Given the description of an element on the screen output the (x, y) to click on. 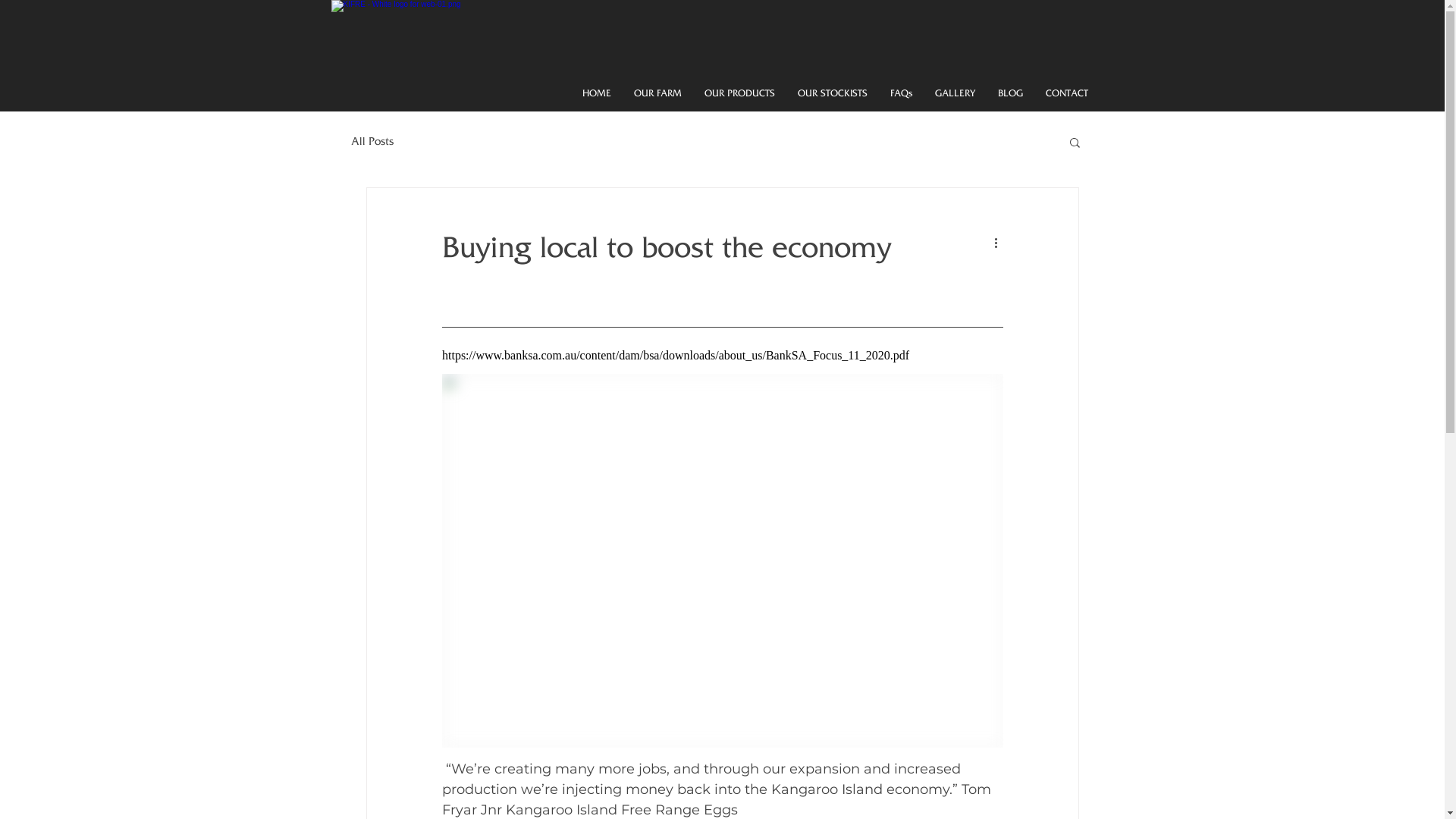
FAQs Element type: text (900, 93)
OUR FARM Element type: text (656, 93)
OUR STOCKISTS Element type: text (831, 93)
GALLERY Element type: text (954, 93)
BLOG Element type: text (1009, 93)
CONTACT Element type: text (1066, 93)
HOME Element type: text (595, 93)
All Posts Element type: text (371, 141)
remote content Element type: hover (721, 355)
OUR PRODUCTS Element type: text (739, 93)
